Given the description of an element on the screen output the (x, y) to click on. 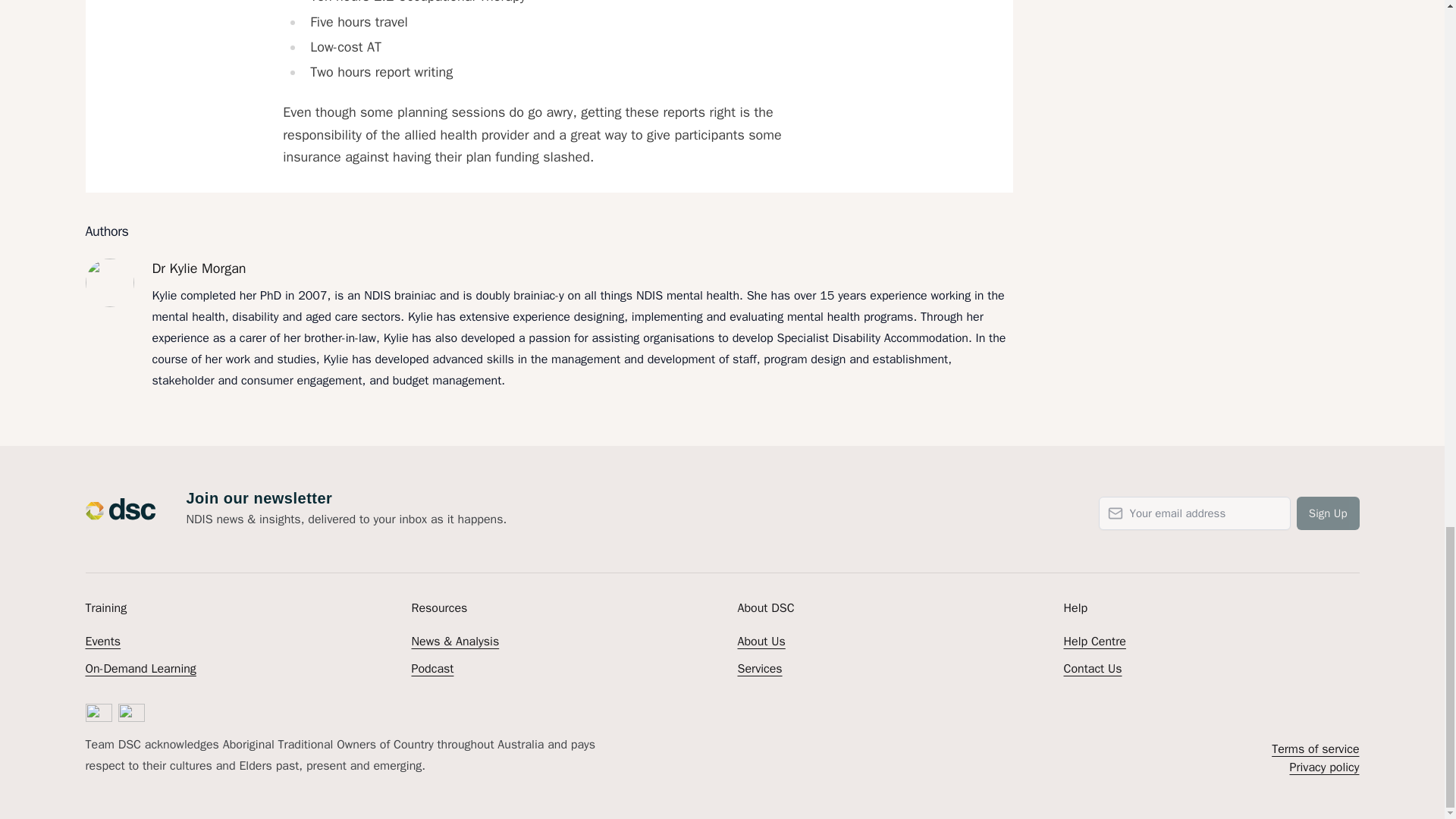
Services (758, 668)
Terms of service (1314, 749)
Privacy policy (1323, 767)
On-Demand Learning (139, 668)
Sign Up (1328, 512)
Sign Up (1328, 512)
Privacy policy (1323, 767)
Dr Kylie Morgan (581, 268)
Podcast (431, 668)
Terms of service (1314, 749)
